Given the description of an element on the screen output the (x, y) to click on. 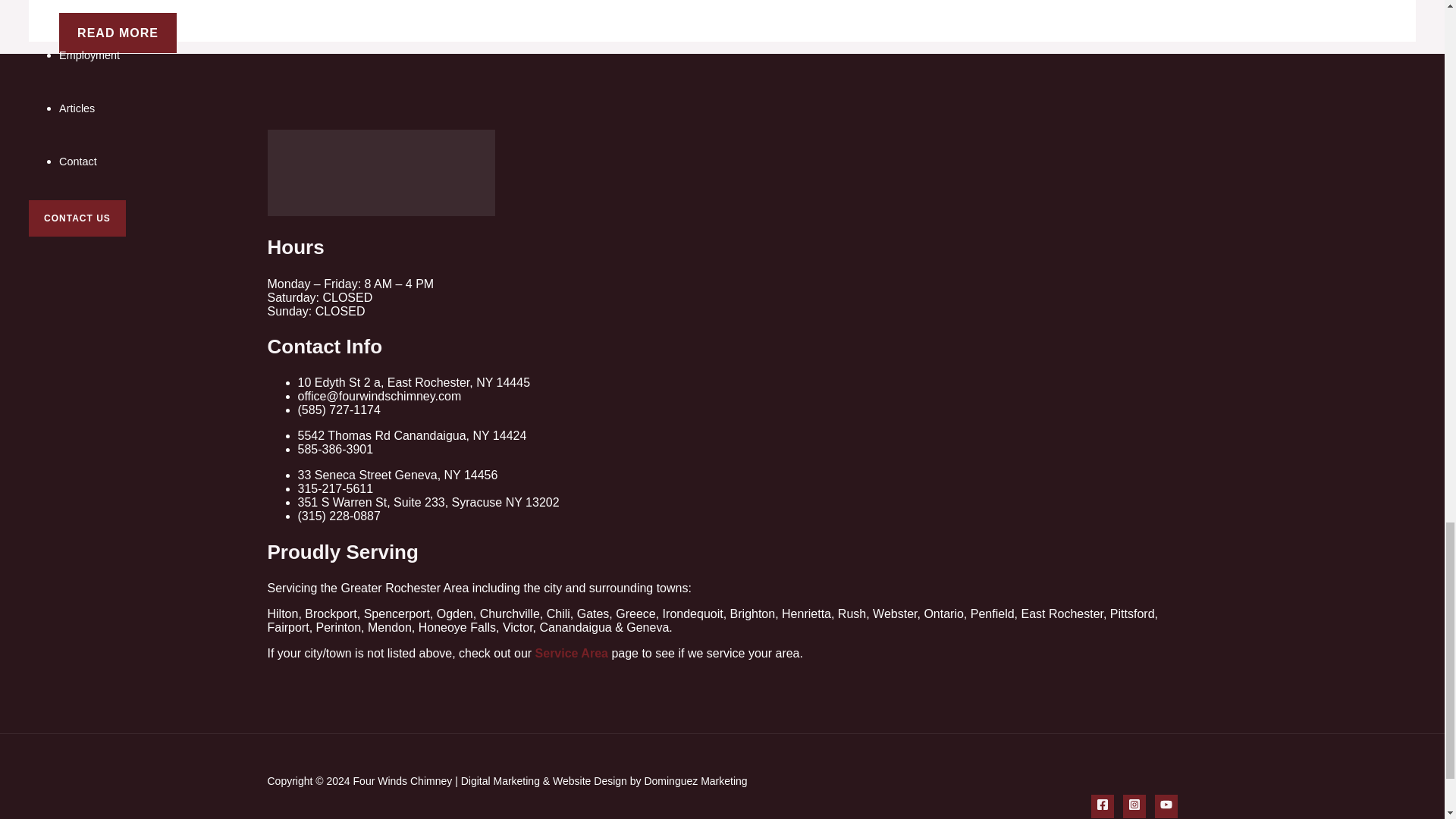
Employment (89, 55)
Service Areas (92, 4)
Articles (76, 108)
